Given the description of an element on the screen output the (x, y) to click on. 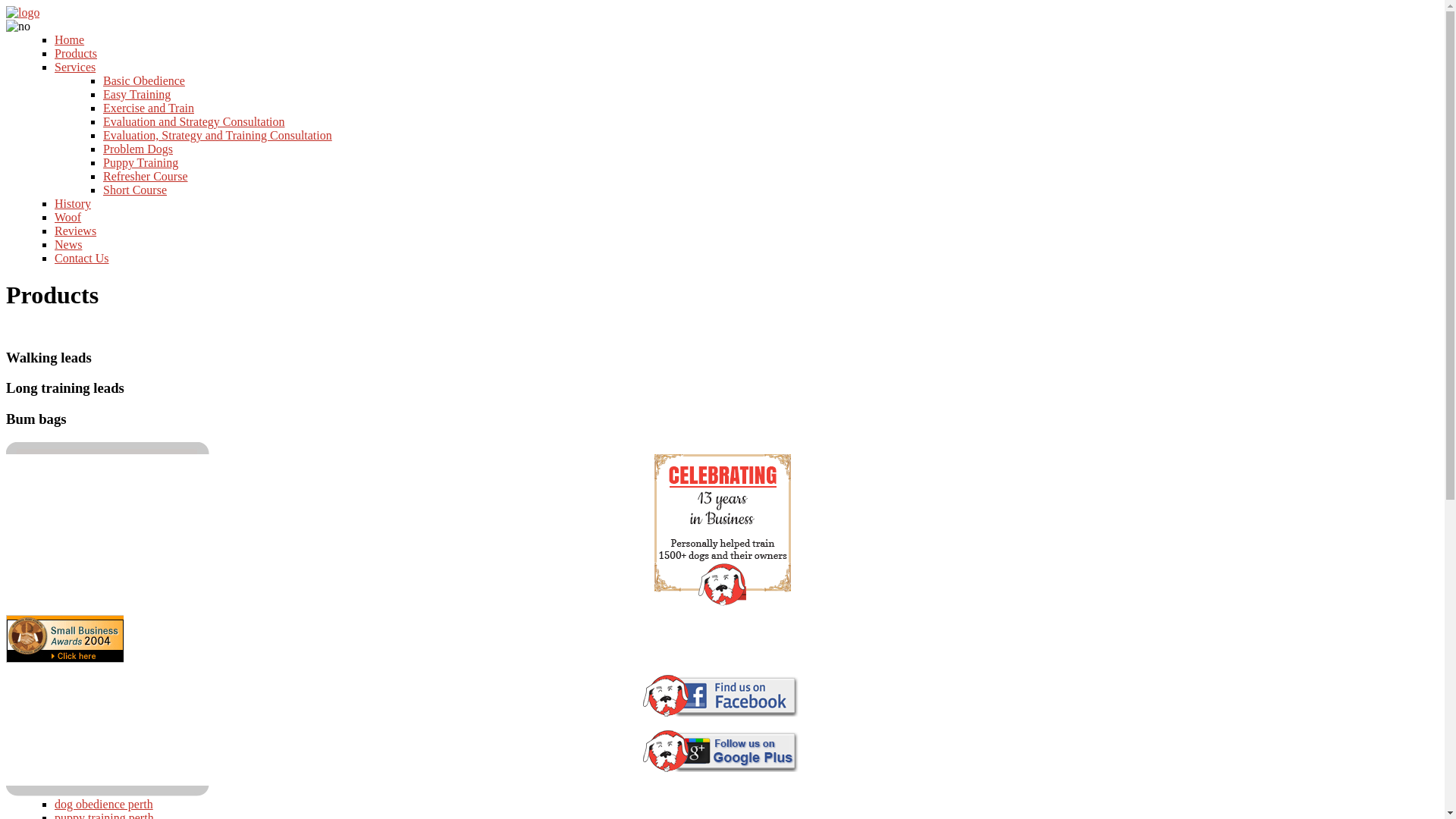
History Element type: text (72, 203)
dog obedience perth Element type: text (103, 803)
Exercise and Train Element type: text (148, 107)
Contact Us Element type: text (81, 257)
Basic Obedience Element type: text (144, 80)
News Element type: text (67, 244)
Home Element type: text (69, 39)
Products Element type: text (75, 53)
Evaluation, Strategy and Training Consultation Element type: text (217, 134)
Short Course Element type: text (134, 189)
Evaluation and Strategy Consultation Element type: text (194, 121)
Easy Training Element type: text (136, 93)
Problem Dogs Element type: text (137, 148)
Services Element type: text (74, 66)
Woof Element type: text (67, 216)
Reviews Element type: text (75, 230)
Puppy Training Element type: text (140, 162)
Refresher Course Element type: text (145, 175)
Doggonit Element type: hover (22, 12)
